Given the description of an element on the screen output the (x, y) to click on. 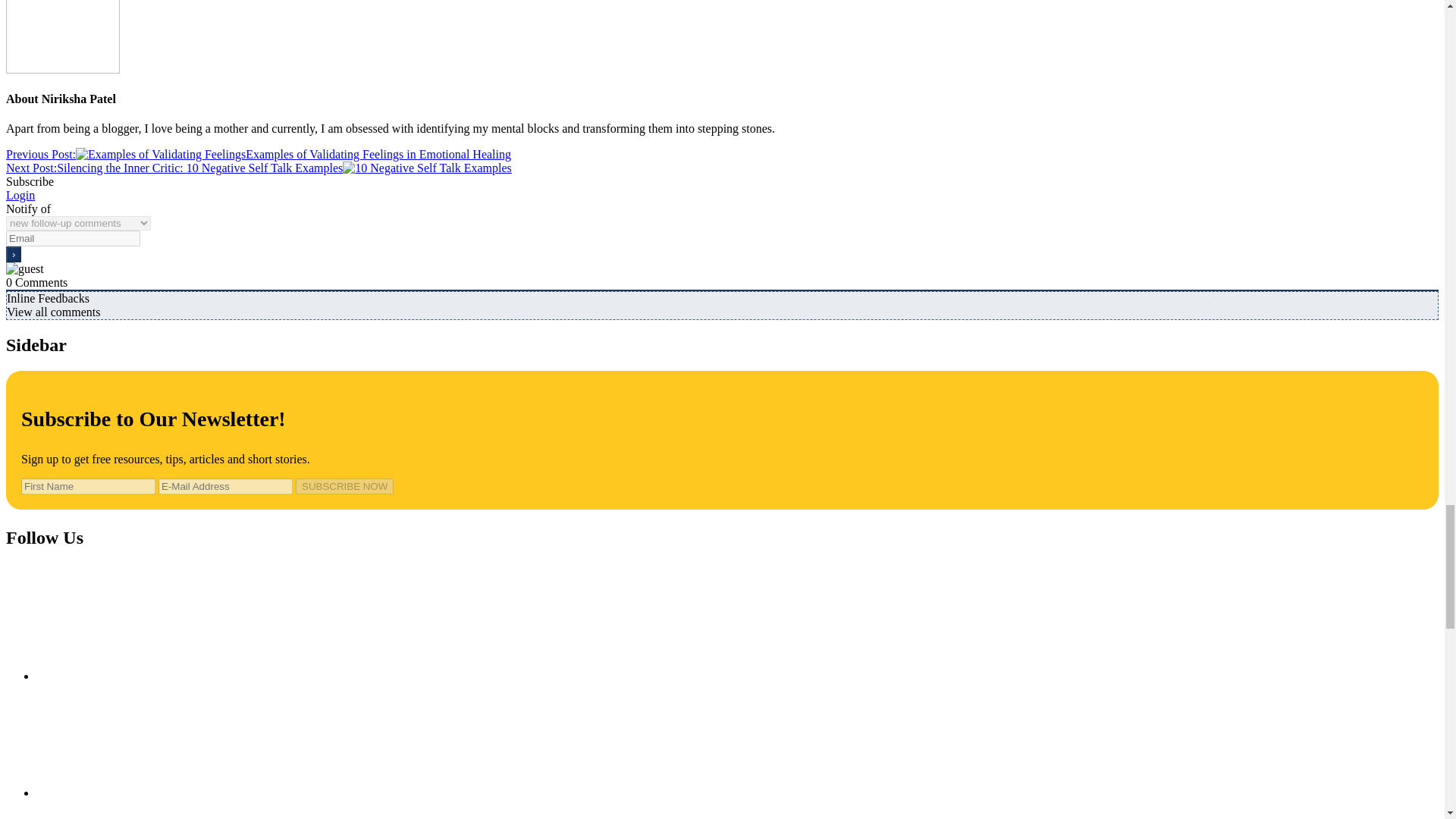
SUBSCRIBE NOW (344, 486)
Facebook (149, 809)
Email (149, 739)
Amazon (149, 623)
